Given the description of an element on the screen output the (x, y) to click on. 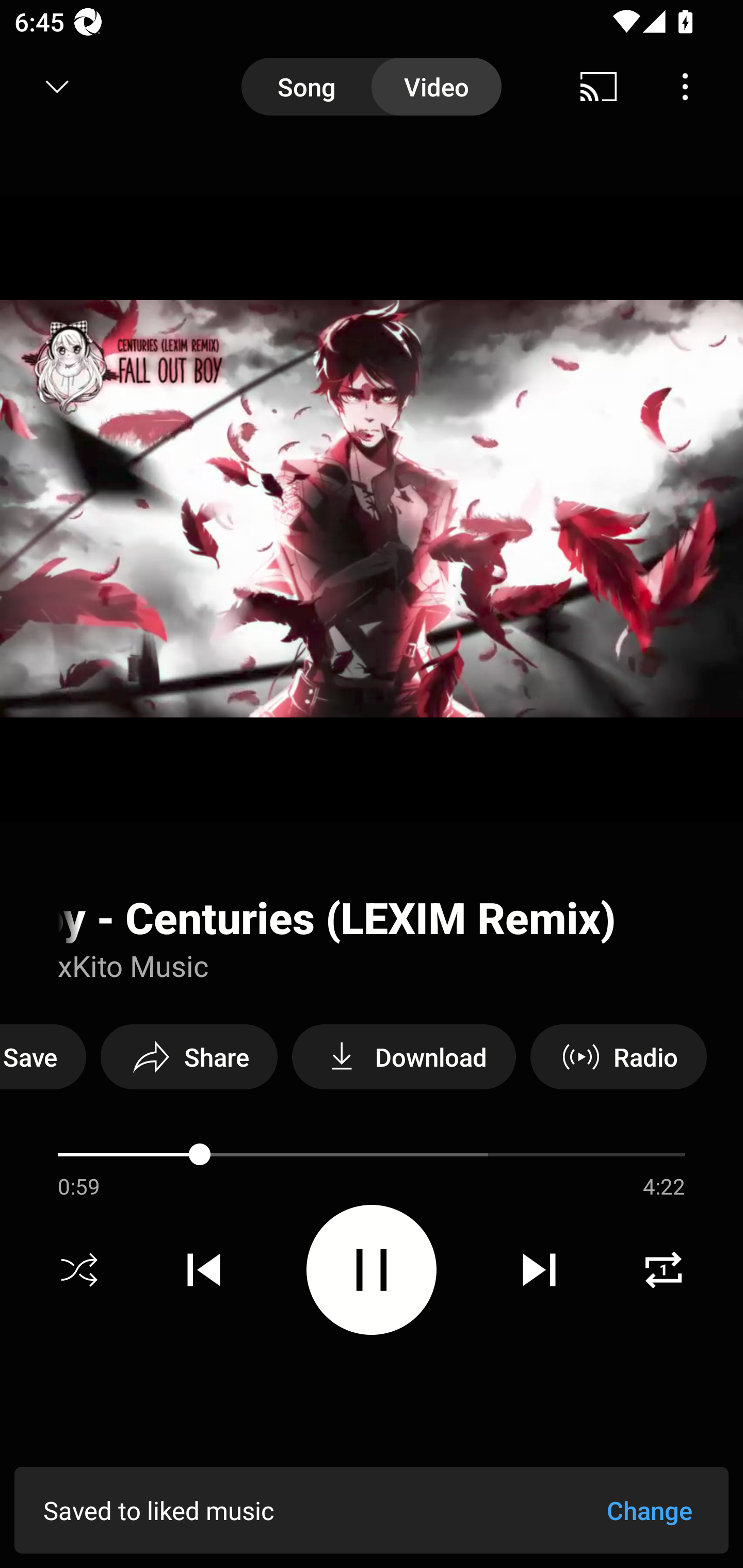
Back (50, 86)
Cast. Disconnected (598, 86)
Menu (684, 86)
Save Save to playlist (43, 1056)
Share (188, 1056)
Download (403, 1056)
Radio (618, 1056)
Pause video (371, 1269)
Shuffle off (79, 1269)
Previous track (203, 1269)
Next track (538, 1269)
Repeat one (663, 1269)
Change (649, 1510)
